Given the description of an element on the screen output the (x, y) to click on. 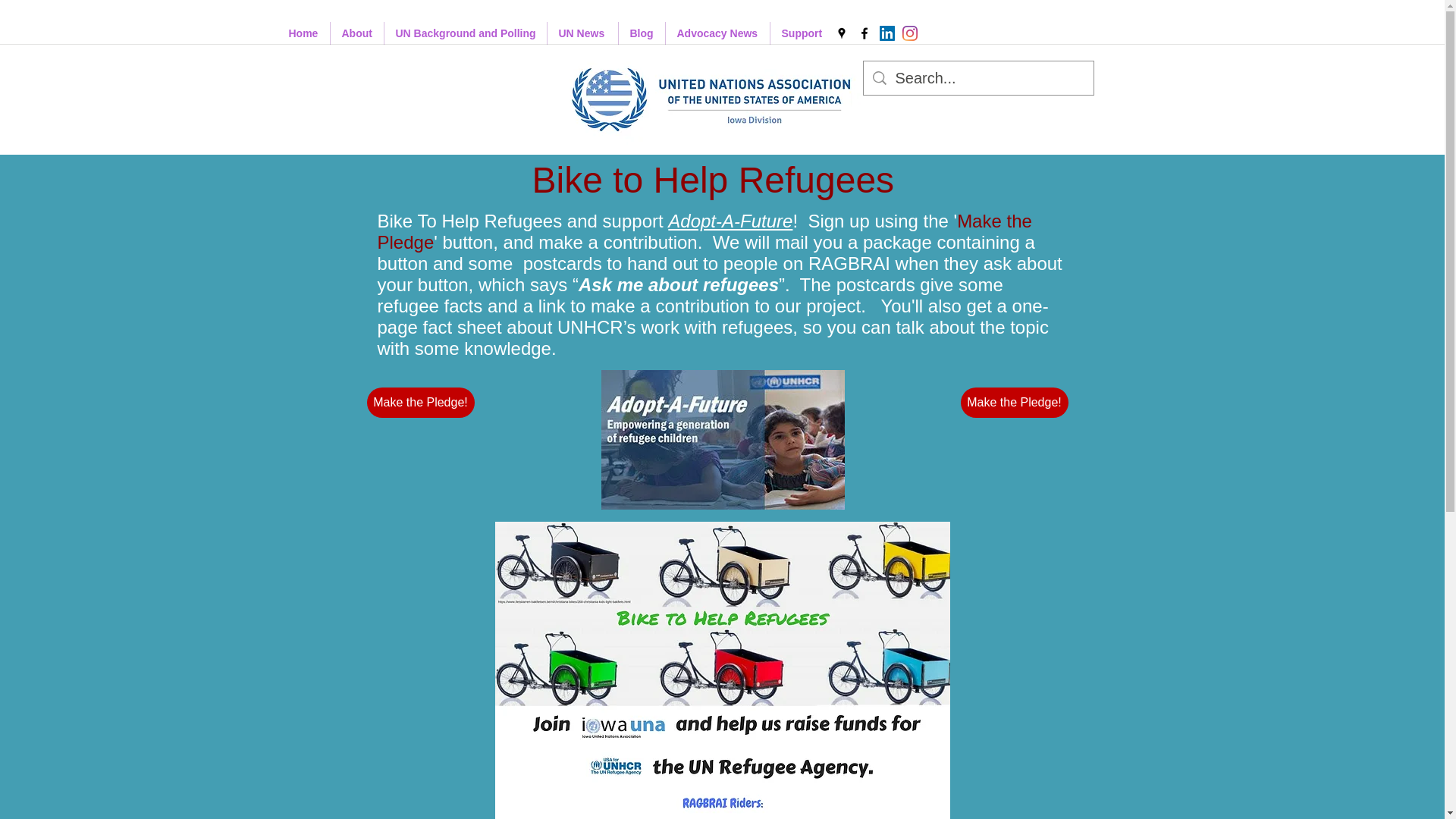
Adopt-A-Future (730, 220)
Home (304, 33)
UN News (582, 33)
Support (802, 33)
UN Background and Polling (465, 33)
Make the Pledge! (420, 402)
About (357, 33)
Make the Pledge! (1013, 402)
Blog (641, 33)
